Given the description of an element on the screen output the (x, y) to click on. 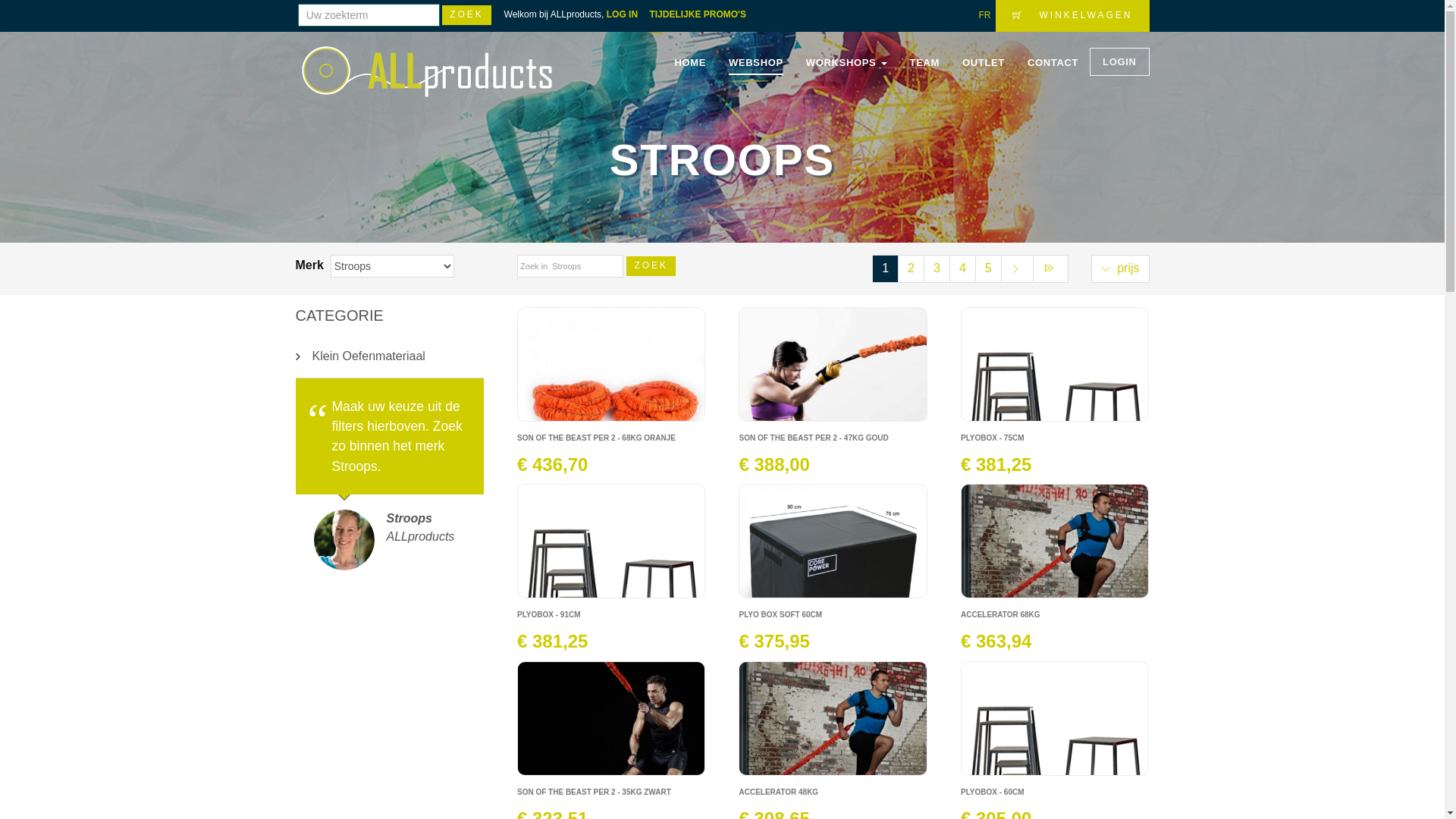
1 Element type: text (885, 268)
prijs Element type: text (1120, 268)
Klein Oefenmateriaal Element type: text (389, 356)
2 Element type: text (910, 268)
Zoek Element type: text (466, 15)
FR Element type: text (984, 14)
OUTLET Element type: text (983, 62)
WINKELWAGEN Element type: text (1071, 15)
Zoek Element type: text (650, 266)
LOGIN Element type: text (1118, 61)
TIJDELIJKE PROMO'S Element type: text (702, 14)
LOG IN Element type: text (626, 14)
3 Element type: text (936, 268)
HOME Element type: text (690, 62)
CONTACT Element type: text (1052, 62)
WORKSHOPS Element type: text (846, 62)
TEAM Element type: text (924, 62)
5 Element type: text (988, 268)
WEBSHOP Element type: text (755, 62)
4 Element type: text (962, 268)
